Given the description of an element on the screen output the (x, y) to click on. 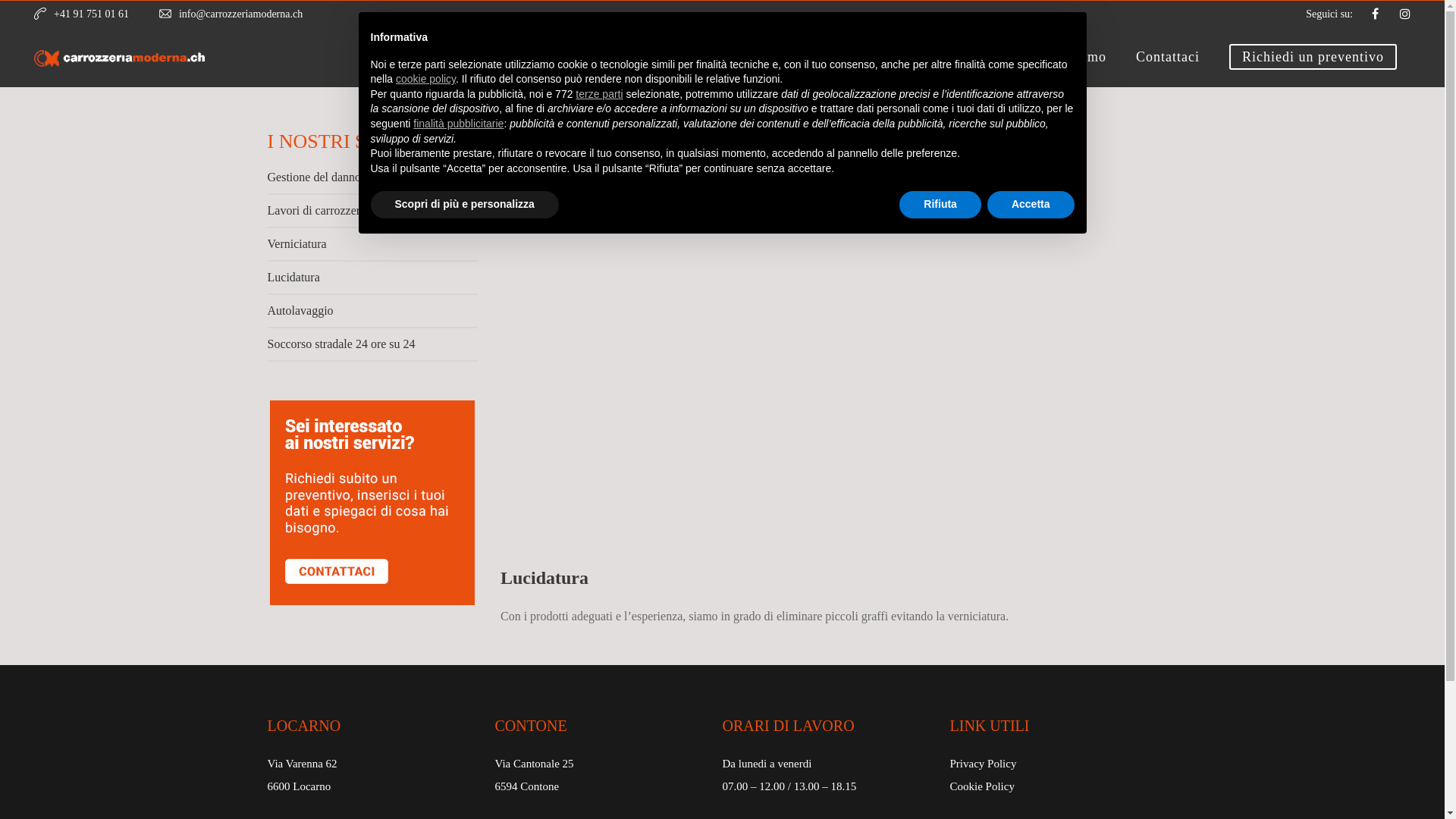
Seguici su: Element type: text (1328, 13)
terze parti Element type: text (598, 93)
Via Cantonale 25 Element type: text (533, 763)
Richiedi un preventivo Element type: text (1312, 57)
Chi siamo Element type: text (1075, 57)
Accetta Element type: text (1030, 204)
I nostri servizi Element type: text (908, 57)
Shop Element type: text (998, 57)
cookie policy Element type: text (425, 78)
Autolavaggio Element type: text (371, 316)
YouTube video player Element type: hover (838, 349)
info@carrozzeriamoderna.ch Element type: text (240, 13)
Lavori di carrozzeria Element type: text (371, 215)
Lucidatura Element type: text (371, 282)
Contattaci Element type: text (1167, 57)
Verniciatura Element type: text (371, 249)
+41 91 751 01 61 Element type: text (90, 13)
Gestione del danno Element type: text (371, 182)
Rifiuta Element type: text (940, 204)
Via Varenna 62 Element type: text (301, 763)
Privacy Policy Element type: text (982, 763)
Soccorso stradale 24 ore su 24 Element type: text (371, 349)
Carrozzeria Moderna Element type: hover (119, 56)
Home Element type: text (815, 57)
Cookie Policy Element type: text (981, 786)
